Given the description of an element on the screen output the (x, y) to click on. 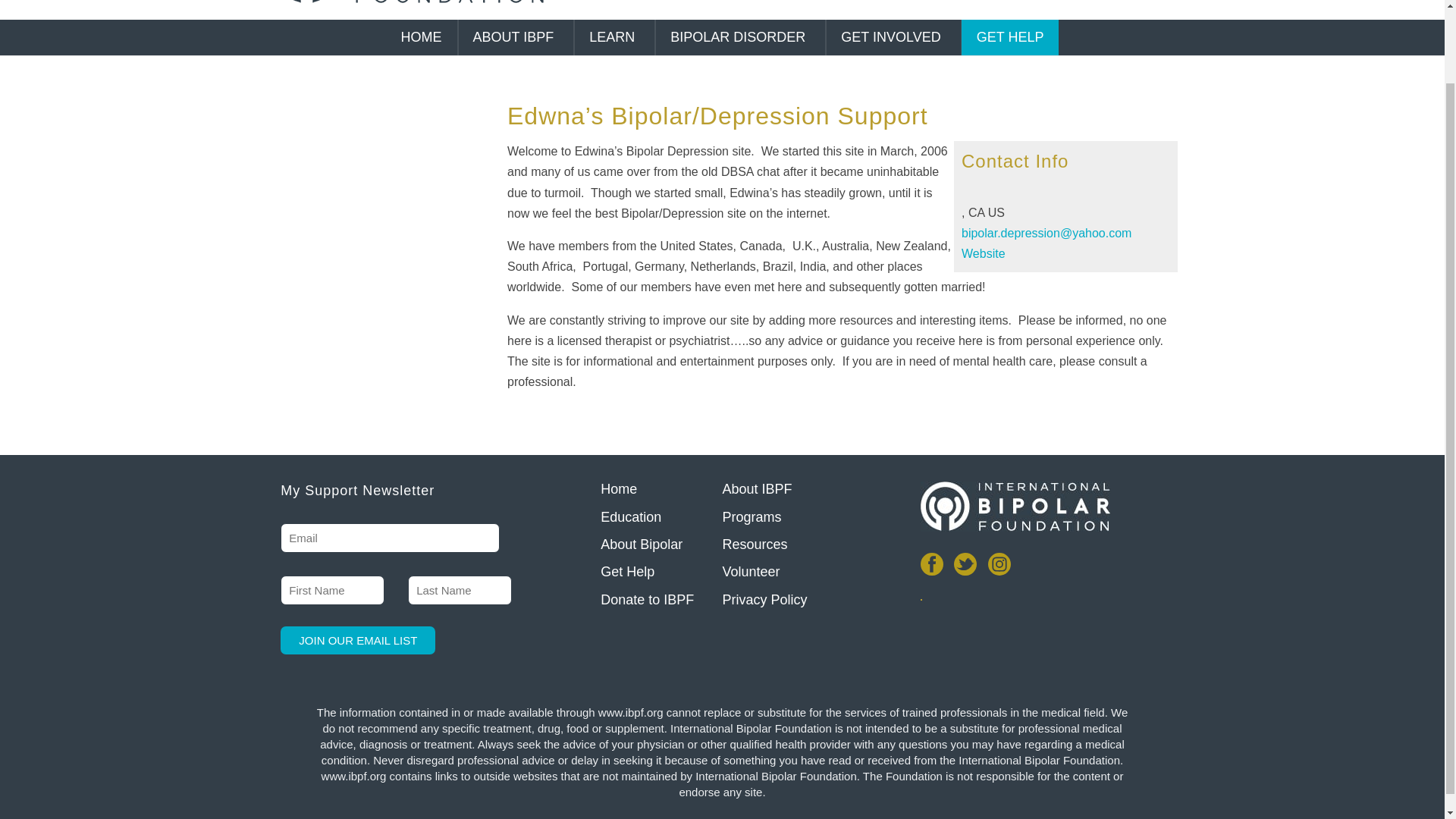
Join Our Email List (358, 640)
BIPOLAR DISORDER (740, 37)
ABOUT IBPF (515, 37)
LEARN (613, 37)
HOME (421, 37)
